Given the description of an element on the screen output the (x, y) to click on. 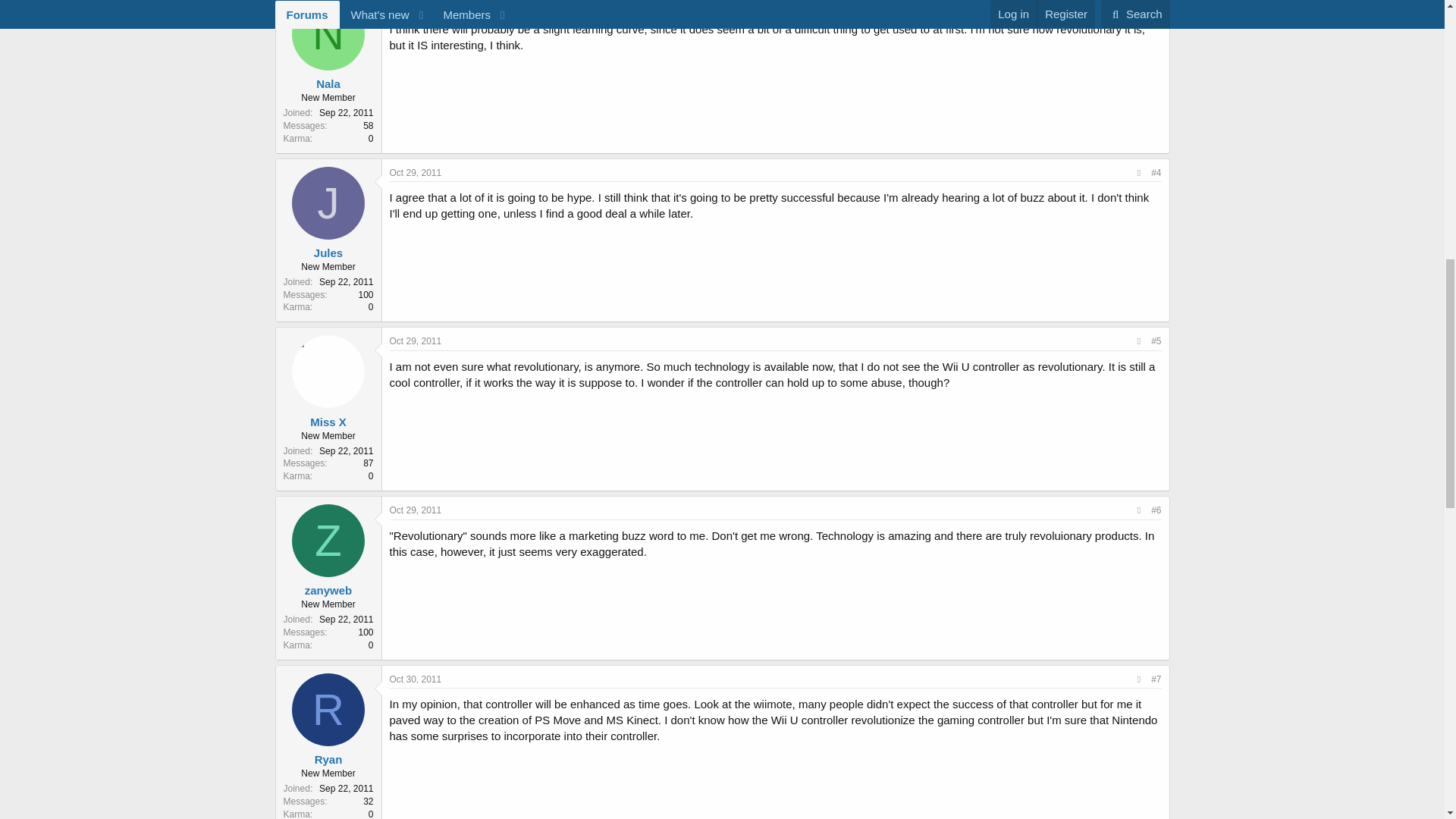
Oct 29, 2011 at 11:11 AM (416, 172)
Oct 30, 2011 at 1:08 PM (416, 679)
Oct 29, 2011 at 10:30 PM (416, 510)
Oct 29, 2011 at 6:59 PM (416, 340)
Oct 27, 2011 at 3:57 PM (416, 4)
